Given the description of an element on the screen output the (x, y) to click on. 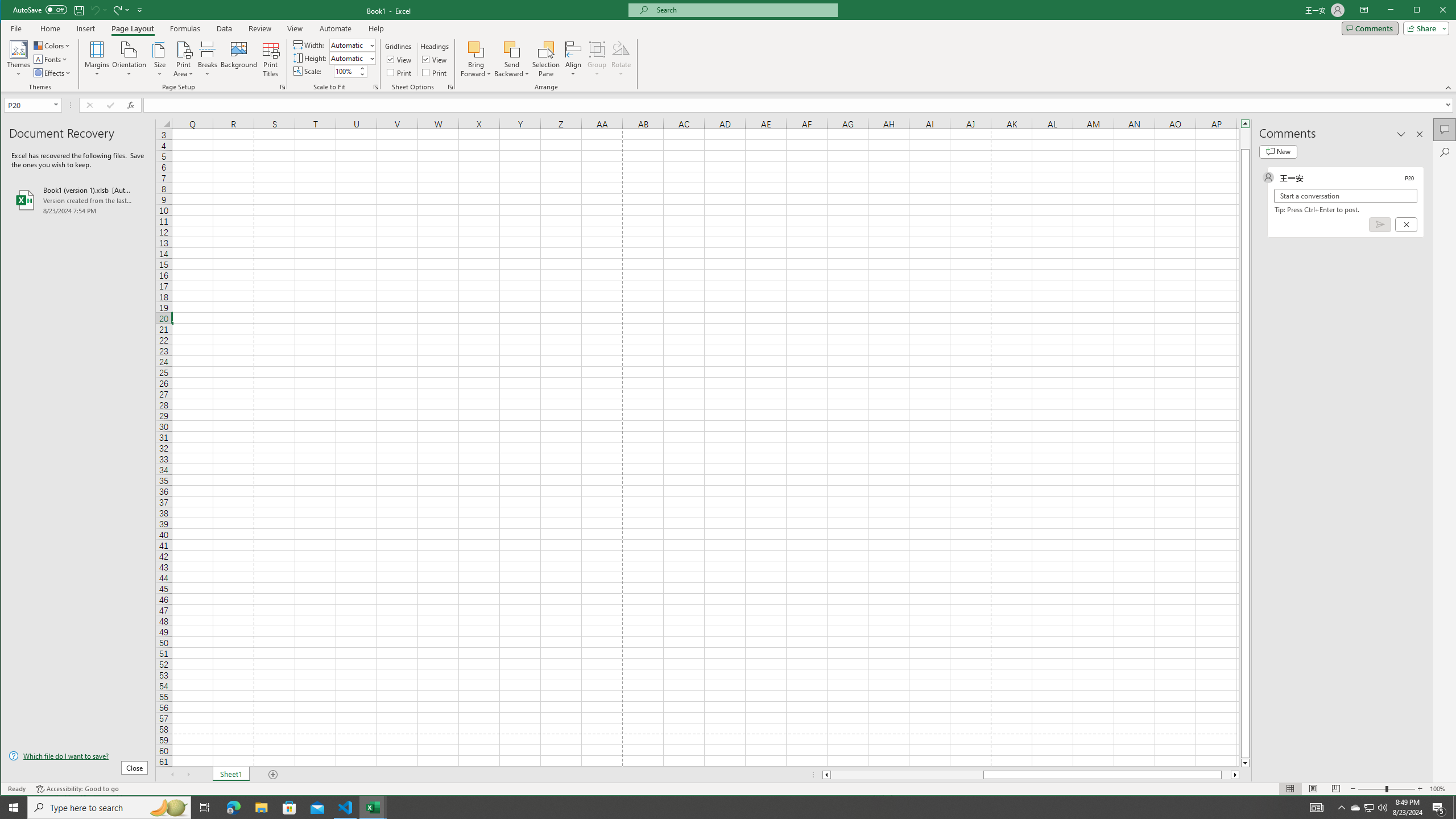
Height (349, 58)
Class: MsoCommandBar (728, 45)
Automate (336, 28)
Book1 (version 1).xlsb  [AutoRecovered] (78, 199)
AutoSave (39, 9)
Width (352, 44)
Margins (96, 59)
Action Center, 5 new notifications (1439, 807)
Start (13, 807)
